Given the description of an element on the screen output the (x, y) to click on. 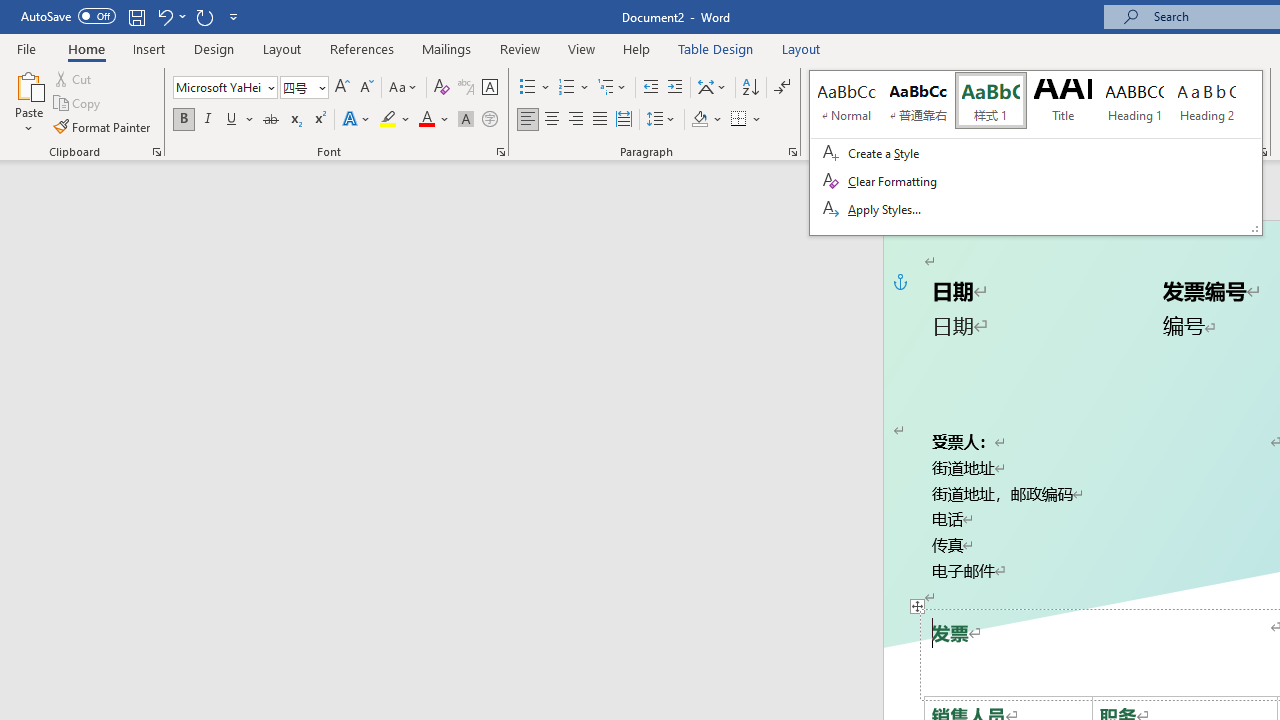
Repeat Style (204, 15)
